Given the description of an element on the screen output the (x, y) to click on. 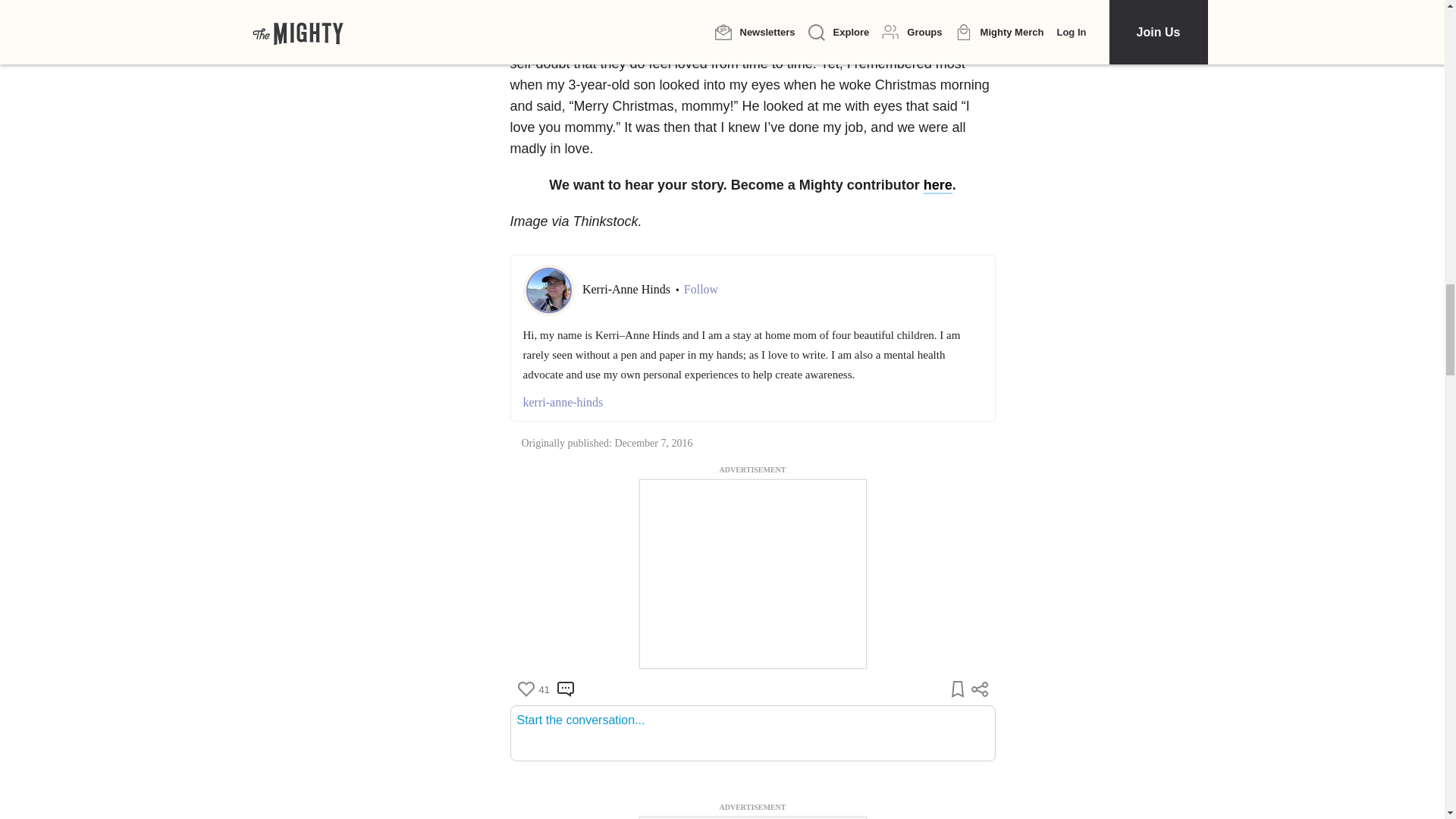
here (937, 185)
41 (532, 688)
kerri-anne-hinds (752, 402)
Follow (700, 289)
Kerri-Anne Hinds (627, 288)
